Given the description of an element on the screen output the (x, y) to click on. 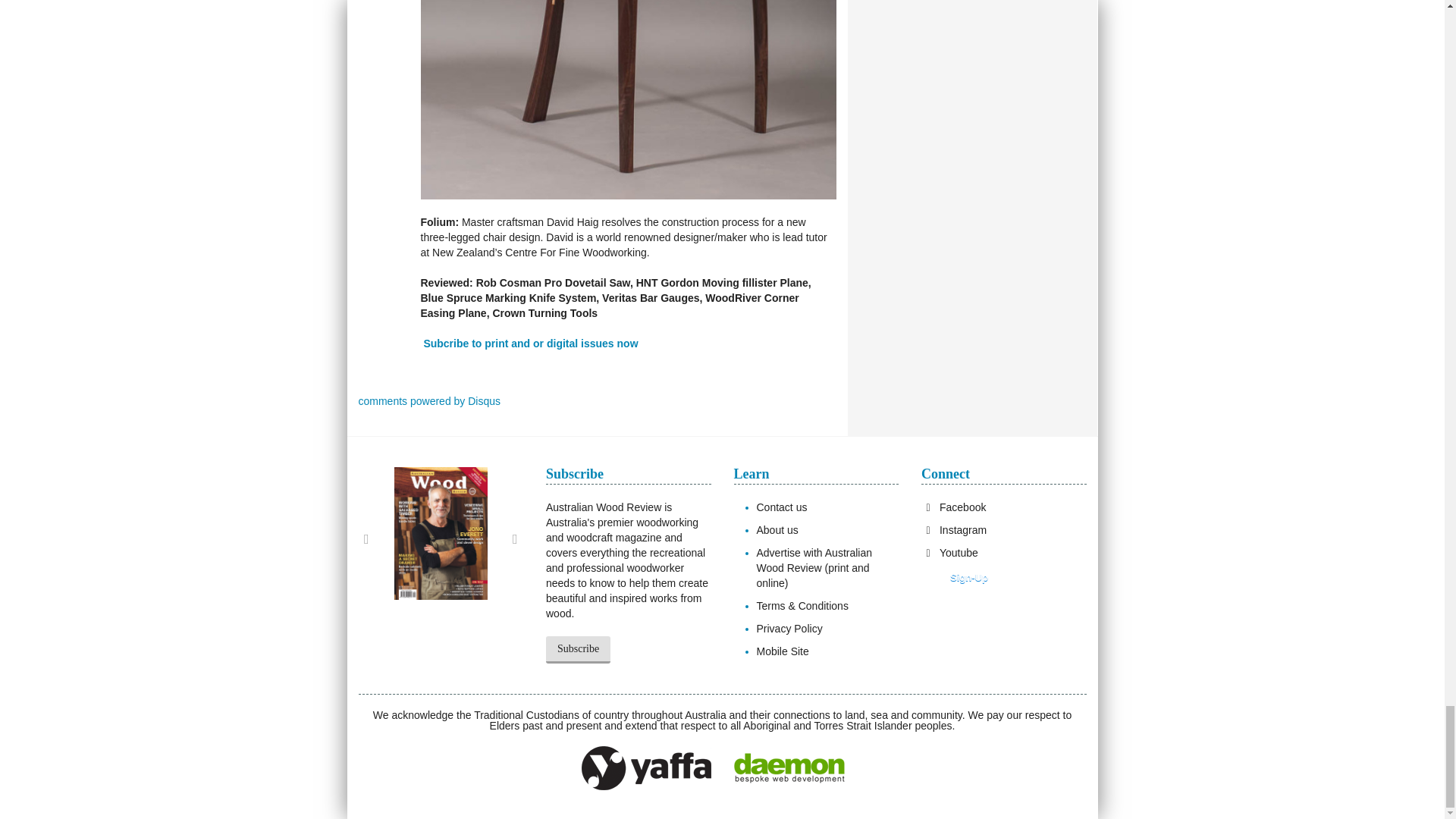
comments powered by Disqus (429, 400)
Preview (958, 578)
Subcribe to print and or digital issues now (530, 343)
